Given the description of an element on the screen output the (x, y) to click on. 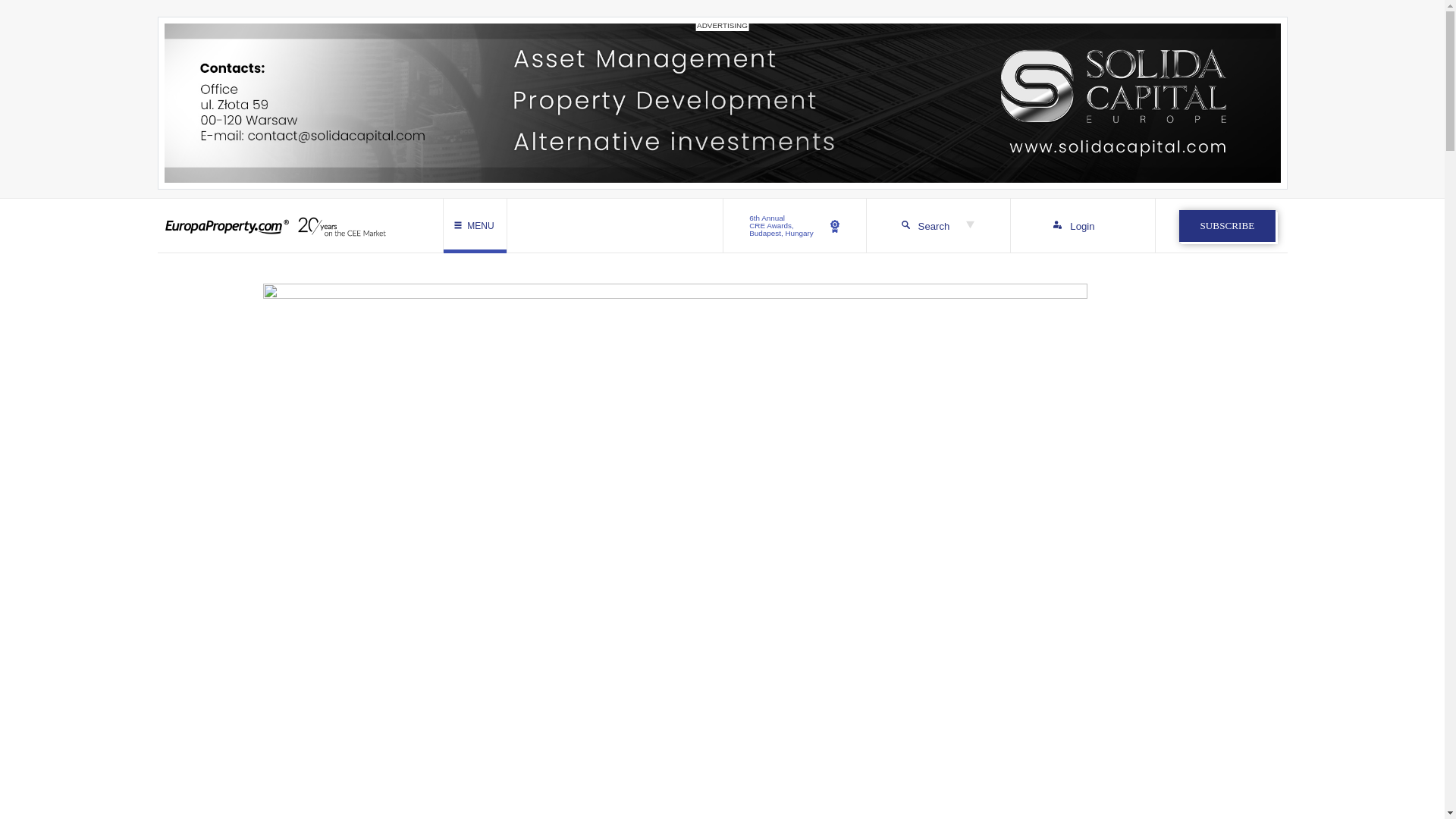
Login (794, 226)
SUBSCRIBE (1082, 226)
